Given the description of an element on the screen output the (x, y) to click on. 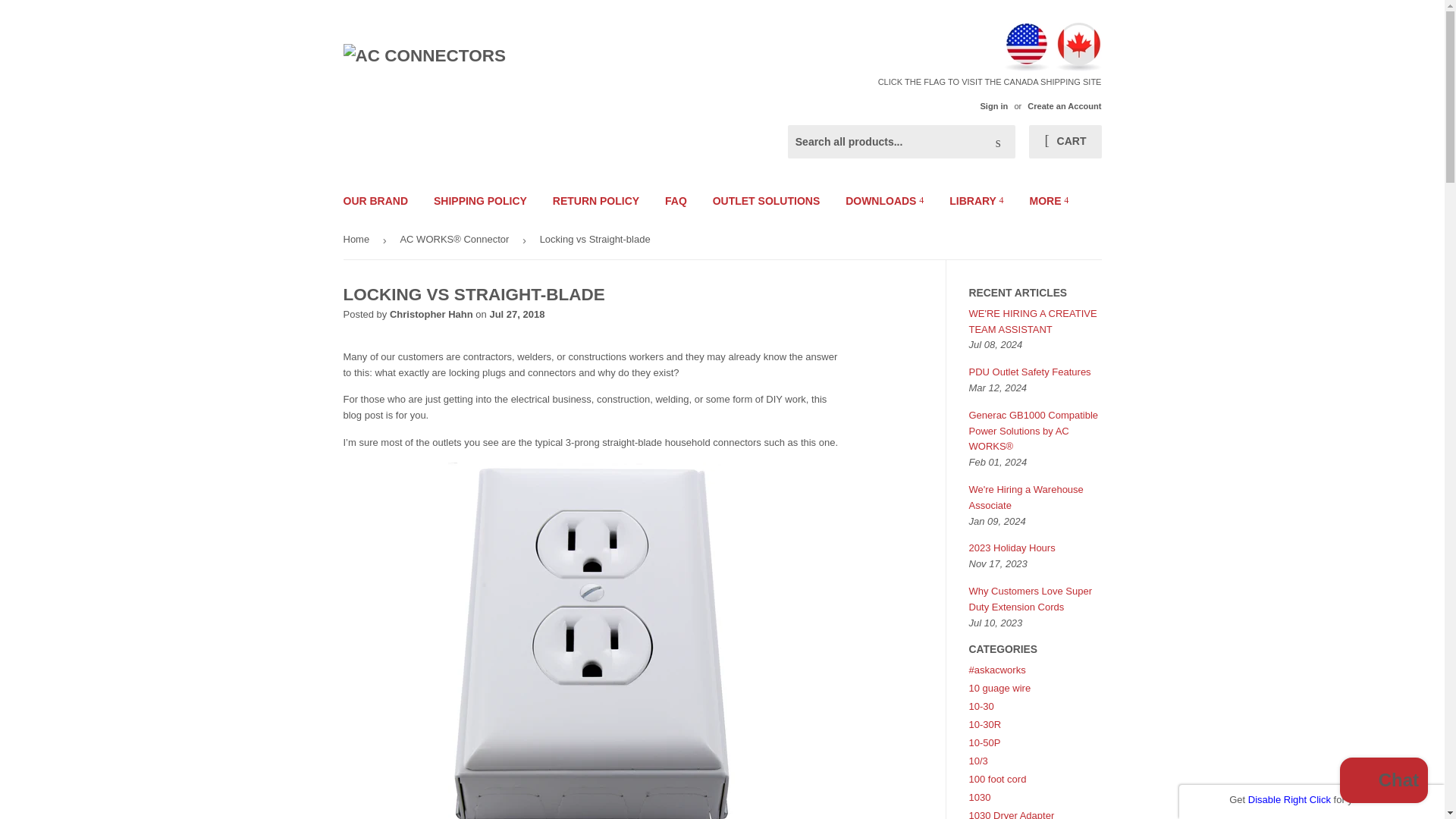
Show articles tagged 100 foot cord (997, 778)
Show articles tagged 10 guage wire (999, 687)
Show articles tagged 10-50P (985, 742)
Sign in (993, 105)
Show articles tagged 1030 Dryer Adapter (1011, 814)
RETURN POLICY (595, 200)
OUR BRAND (375, 200)
Show articles tagged 1030 (980, 797)
Show articles tagged 10-30R (985, 724)
CART (1064, 141)
